Given the description of an element on the screen output the (x, y) to click on. 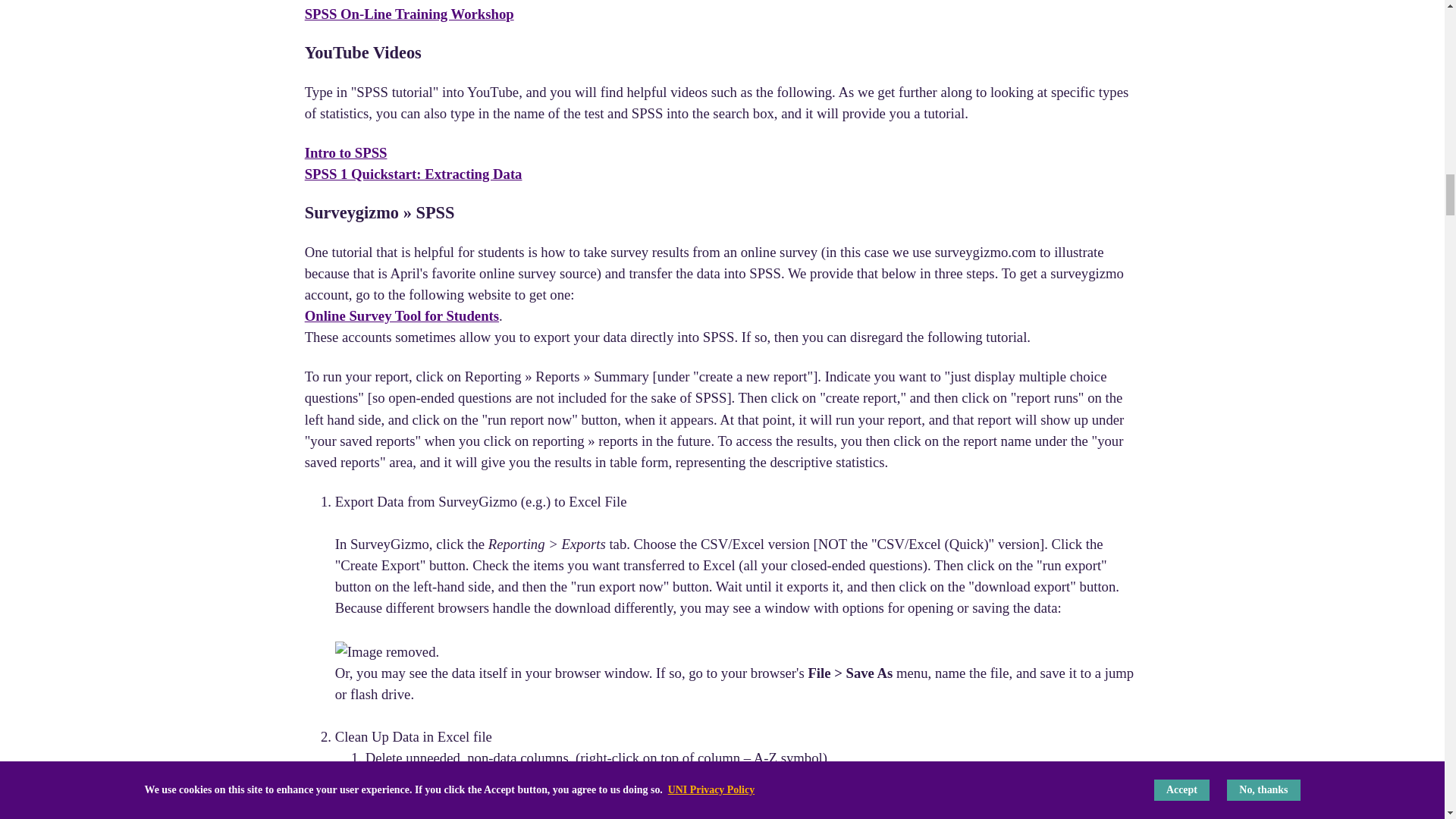
Online Survey Tool for Students (401, 315)
Intro to SPSS (345, 152)
SPSS 1 Quickstart: Extracting Data (413, 173)
SPSS On-Line Training Workshop (408, 13)
